Given the description of an element on the screen output the (x, y) to click on. 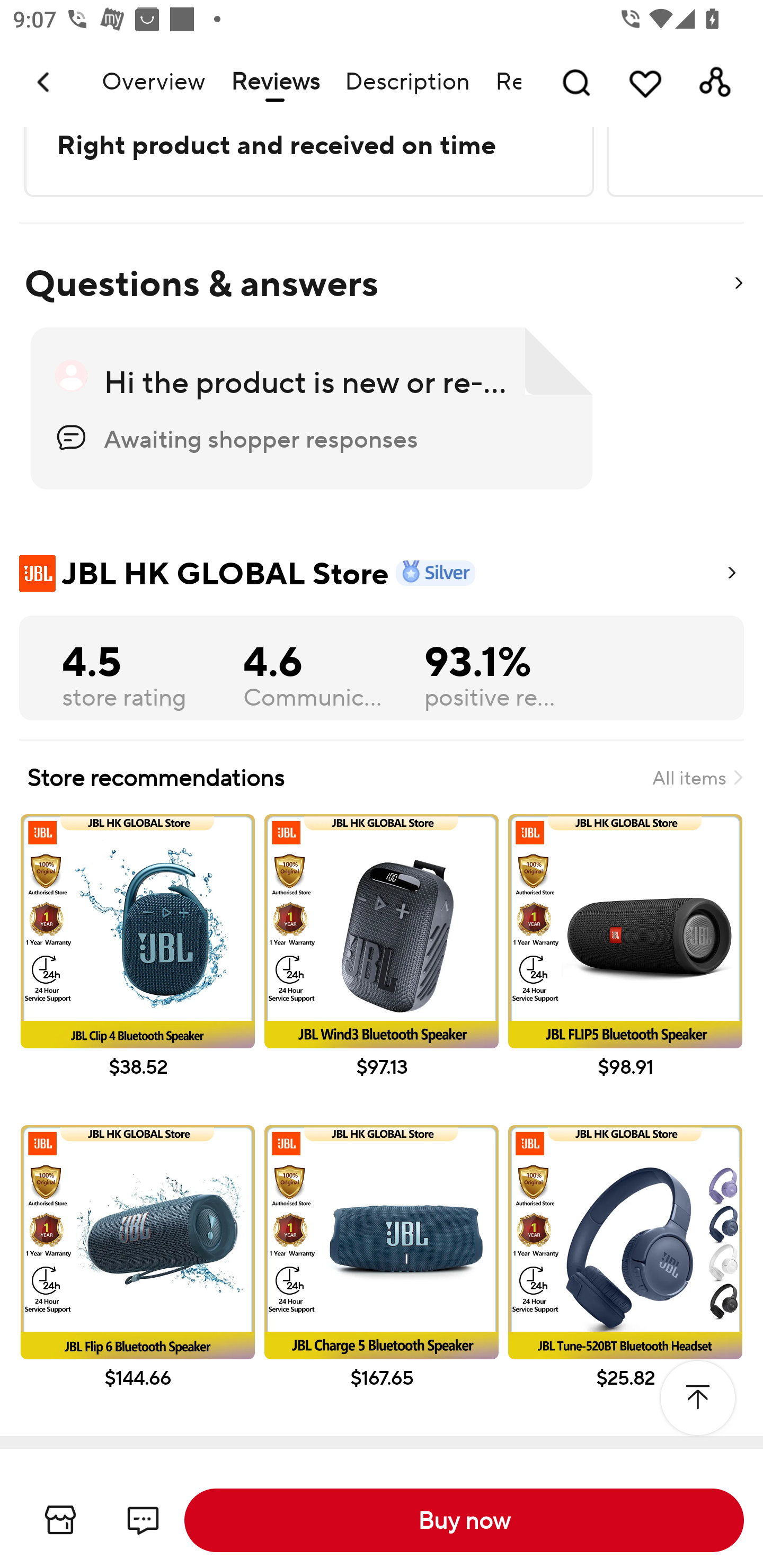
Navigate up (44, 82)
Overview (153, 81)
Description (406, 81)
Right product and received on time (306, 144)
 (737, 283)
All items (697, 777)
$38.52 (137, 963)
$97.13 (381, 963)
$98.91 (625, 963)
$144.66 (137, 1275)
$167.65 (381, 1275)
$25.82 (625, 1275)
 (697, 1397)
Buy now (463, 1520)
